Given the description of an element on the screen output the (x, y) to click on. 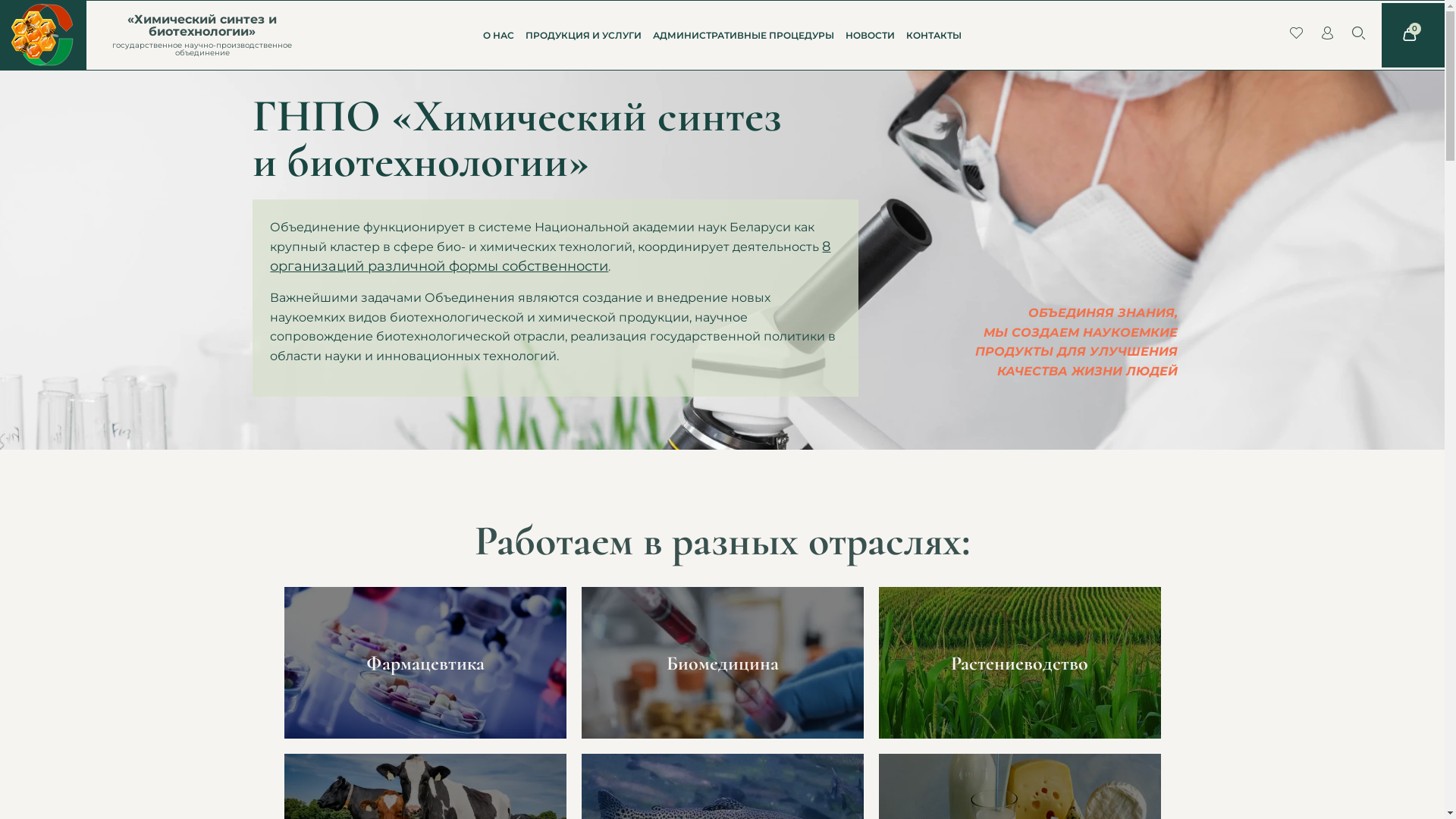
0 Element type: text (1412, 35)
